Given the description of an element on the screen output the (x, y) to click on. 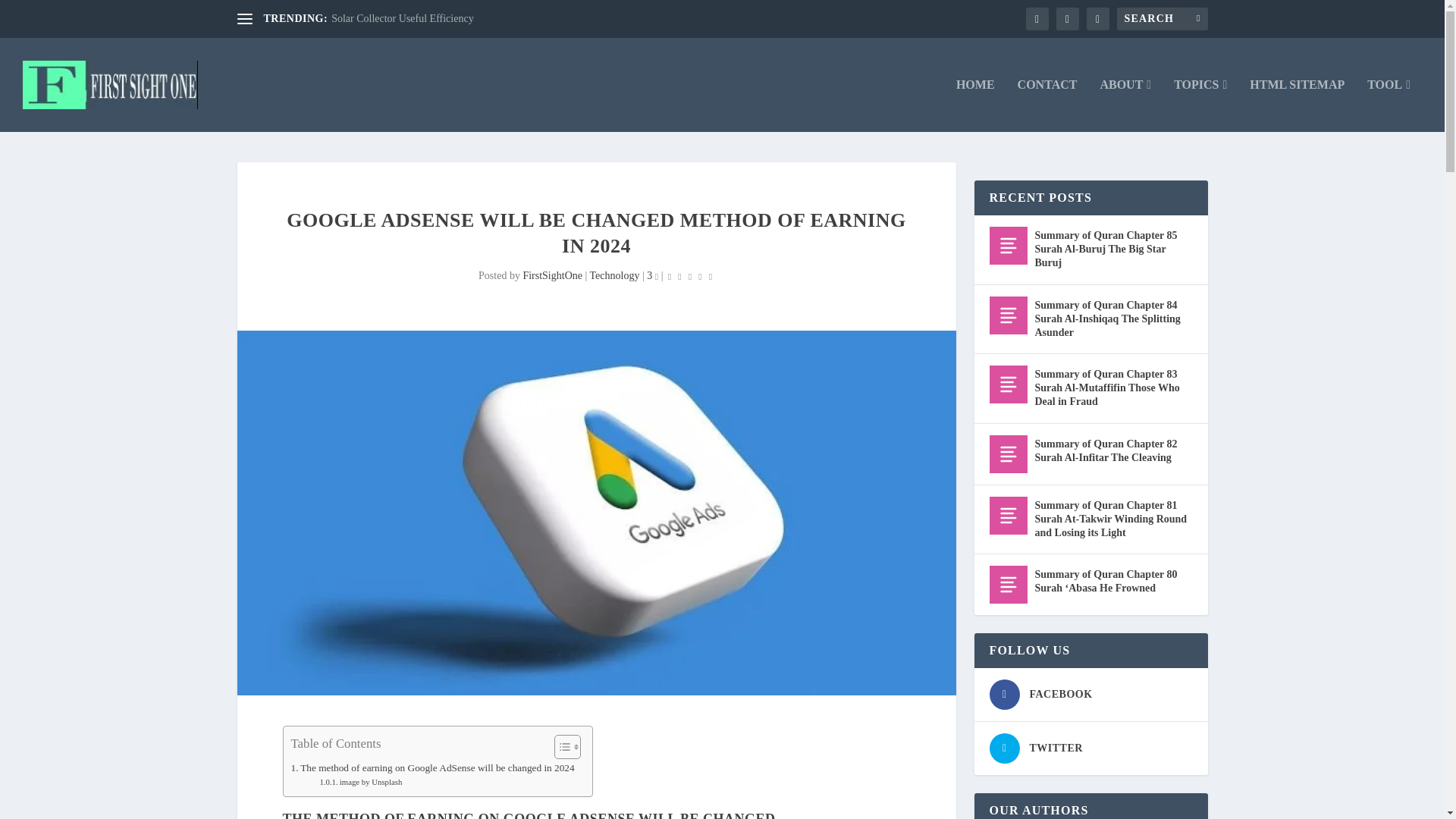
Search for: (1161, 18)
Solar Collector Useful Efficiency (402, 18)
TOPICS (1200, 104)
ABOUT (1125, 104)
Rating: 0.00 (689, 275)
Posts by FirstSightOne (552, 275)
CONTACT (1047, 104)
image by Unsplash (359, 781)
HTML SITEMAP (1296, 104)
